Given the description of an element on the screen output the (x, y) to click on. 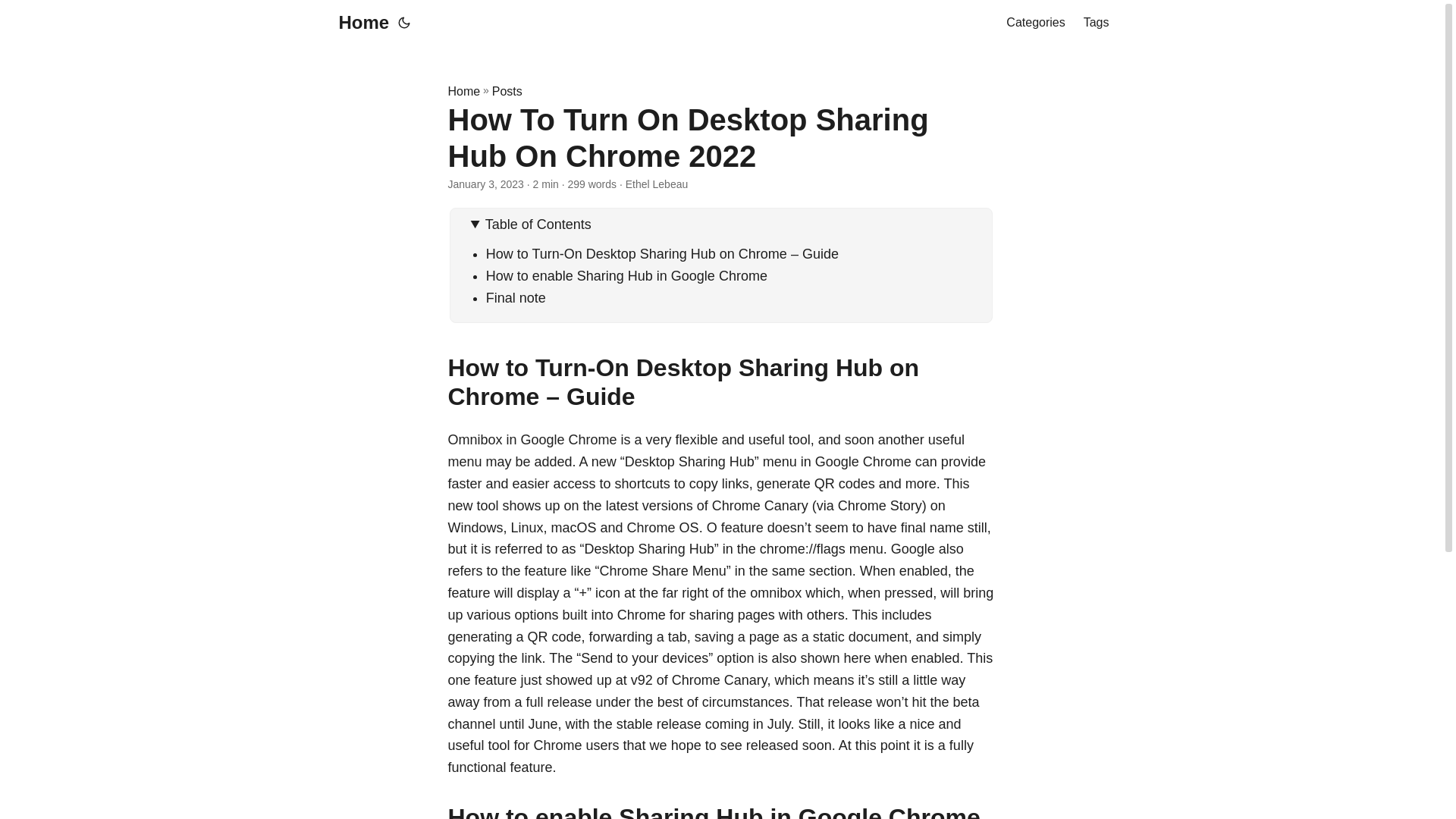
How to enable Sharing Hub in Google Chrome (626, 275)
Home (463, 91)
Posts (507, 91)
Categories (1035, 22)
Final note (516, 297)
Home (359, 22)
Categories (1035, 22)
